Given the description of an element on the screen output the (x, y) to click on. 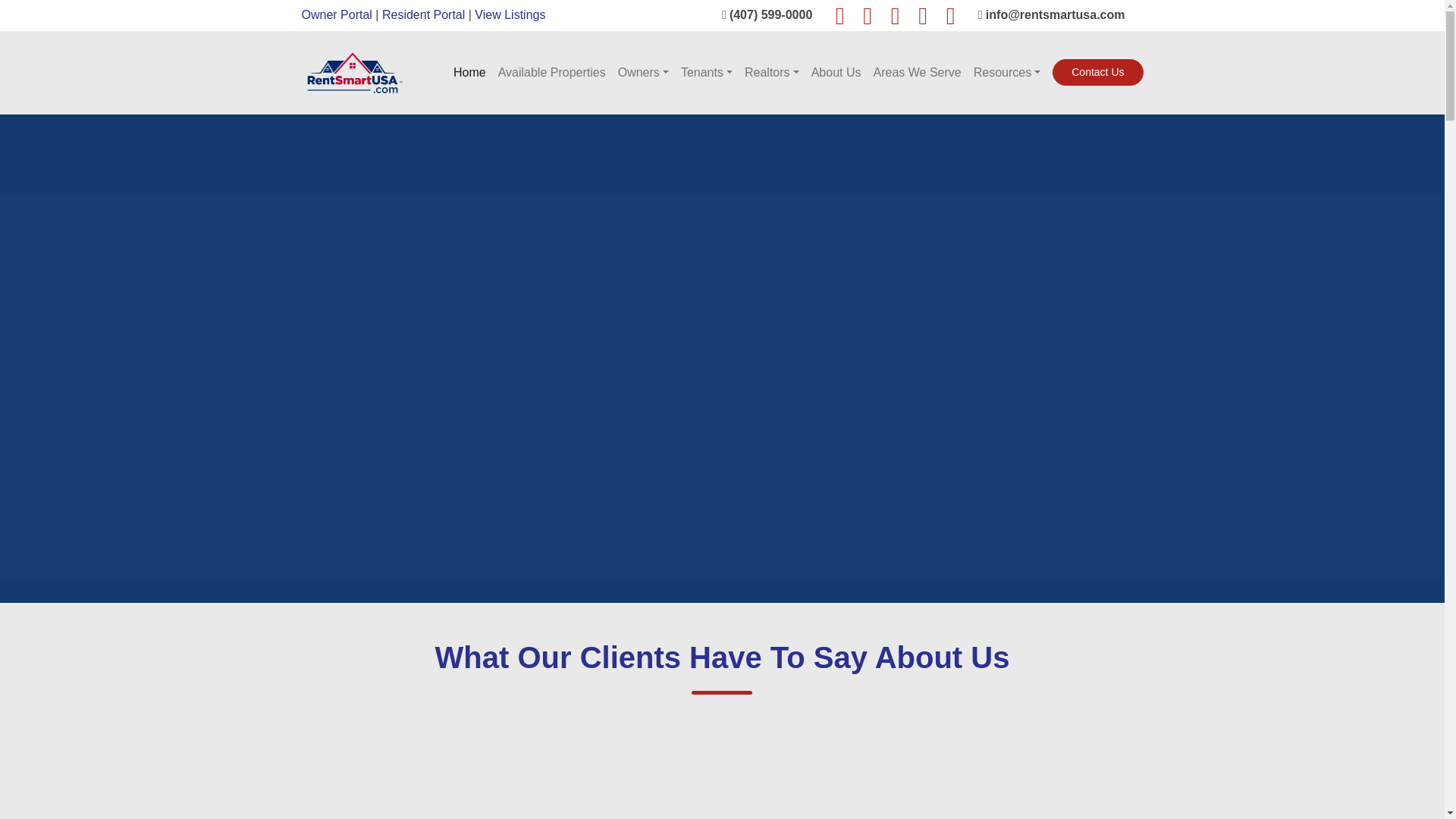
Tenants (706, 71)
Home (469, 71)
Home (469, 71)
Available Properties (551, 71)
Owner Portal (336, 14)
View Listings (509, 14)
Resident Portal (422, 14)
Owners (643, 71)
Owners (643, 71)
Available Properties (551, 71)
